Given the description of an element on the screen output the (x, y) to click on. 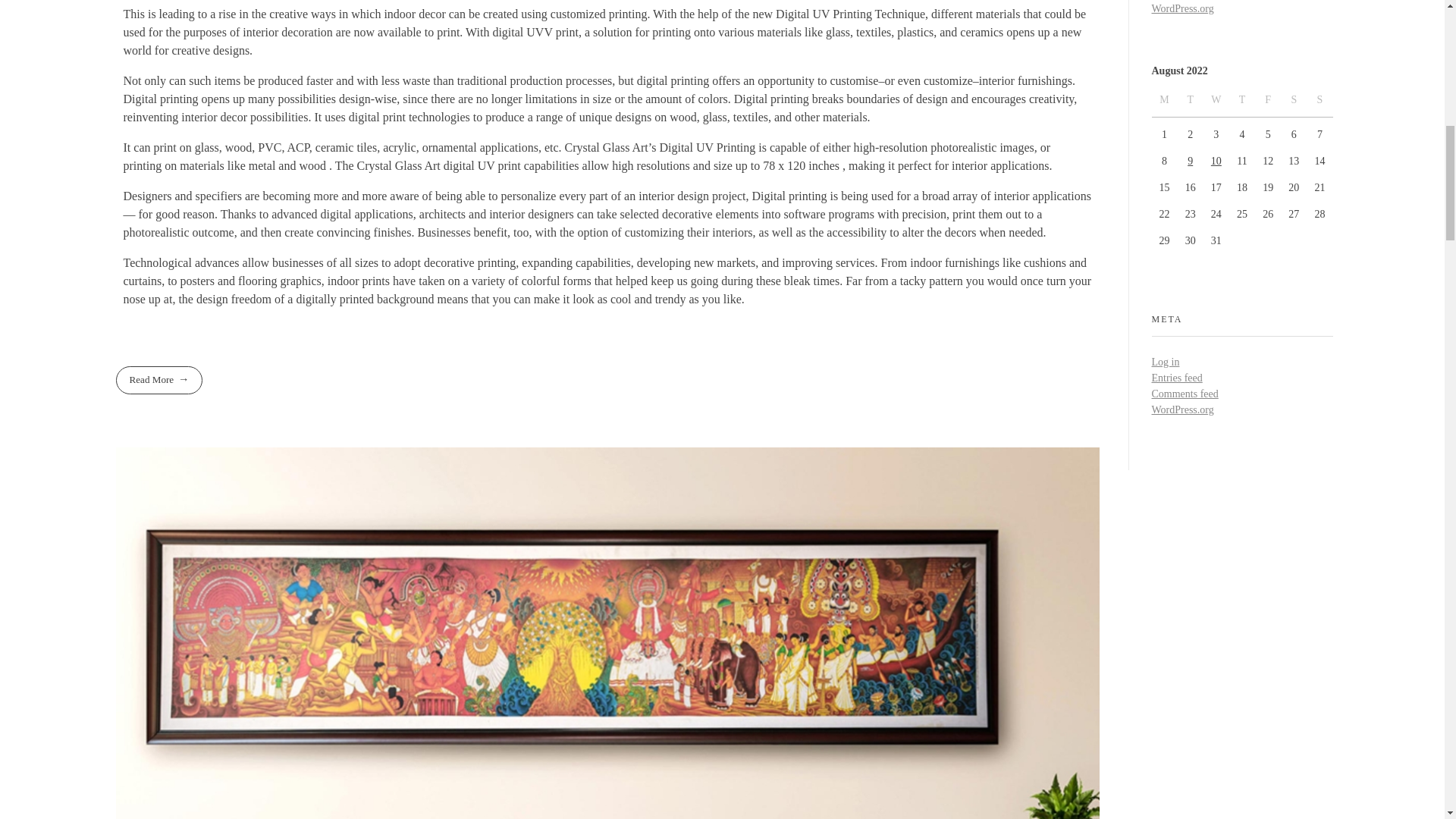
Read More (158, 379)
